Given the description of an element on the screen output the (x, y) to click on. 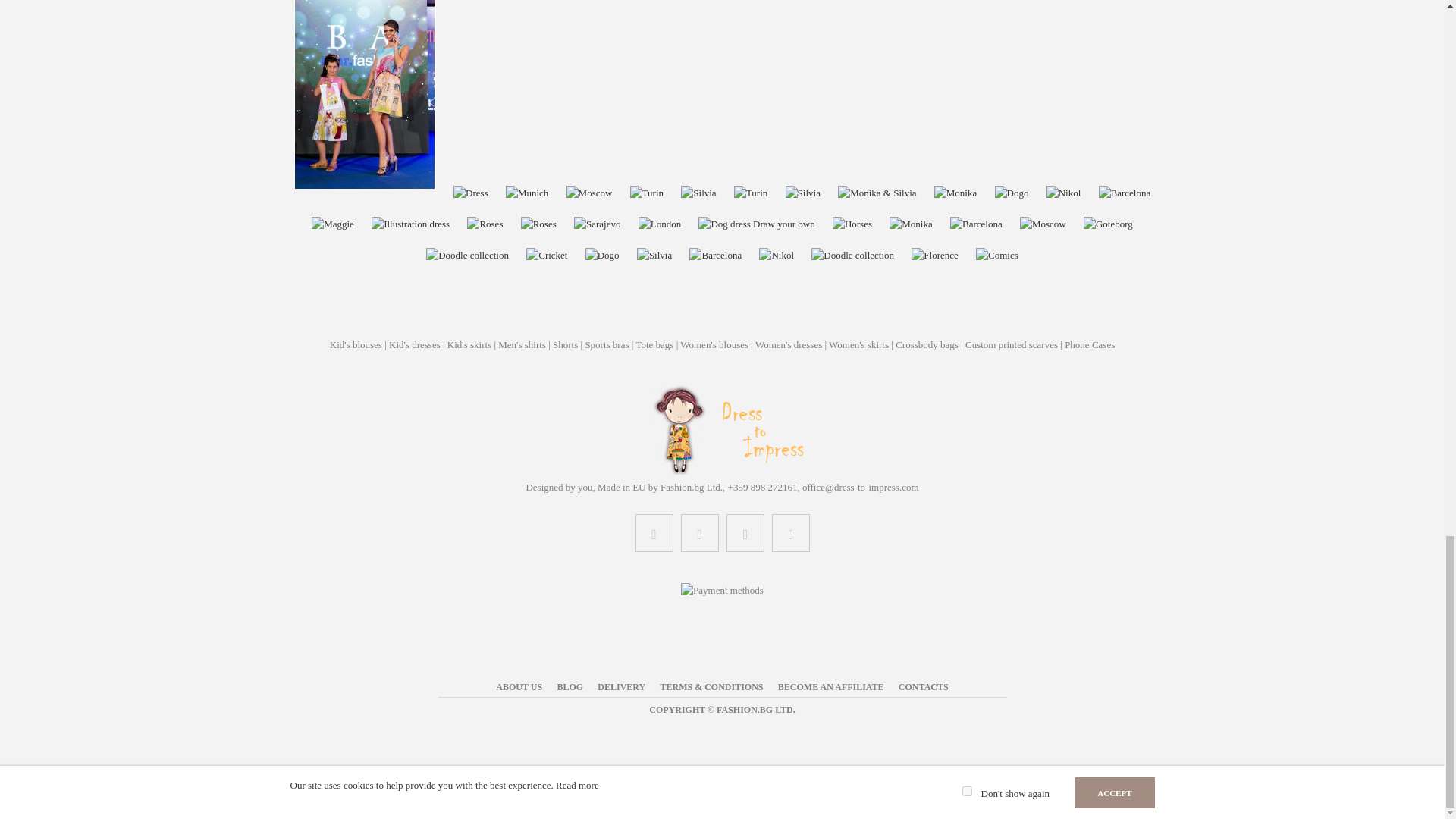
Moscow (589, 193)
Silvia (697, 193)
Illustration dress (410, 224)
Roses (538, 224)
Dogo (1011, 193)
Maggie (332, 224)
Roses (485, 224)
Munich (526, 193)
Dress (470, 193)
Turin (647, 193)
